Given the description of an element on the screen output the (x, y) to click on. 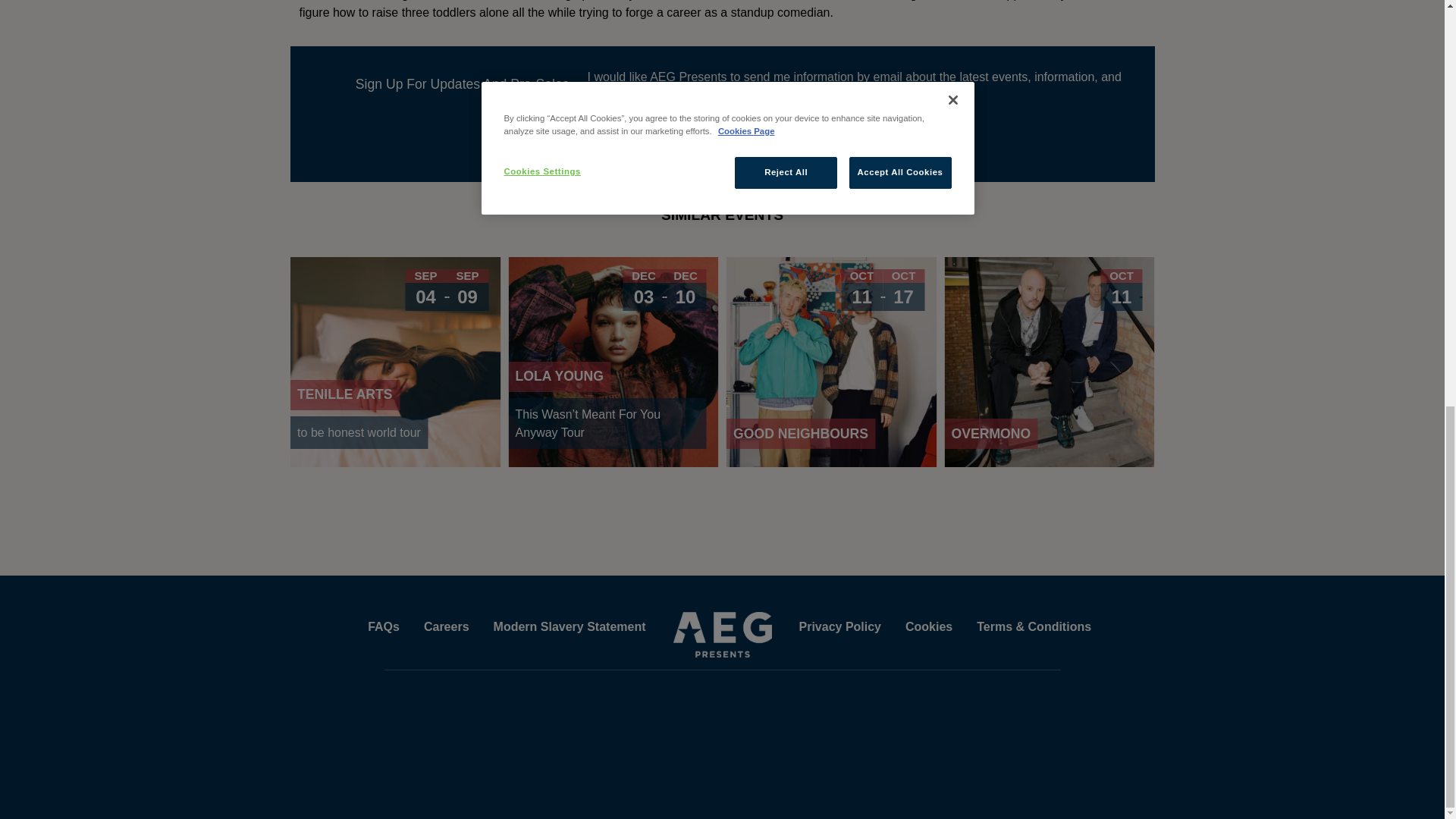
GOOD NEIGHBOURS (394, 362)
Careers (831, 362)
required (446, 626)
OVERMONO (714, 127)
REGISTER (1048, 362)
Modern Slavery Statement (773, 127)
FAQs (569, 626)
Privacy Policy (383, 626)
